Given the description of an element on the screen output the (x, y) to click on. 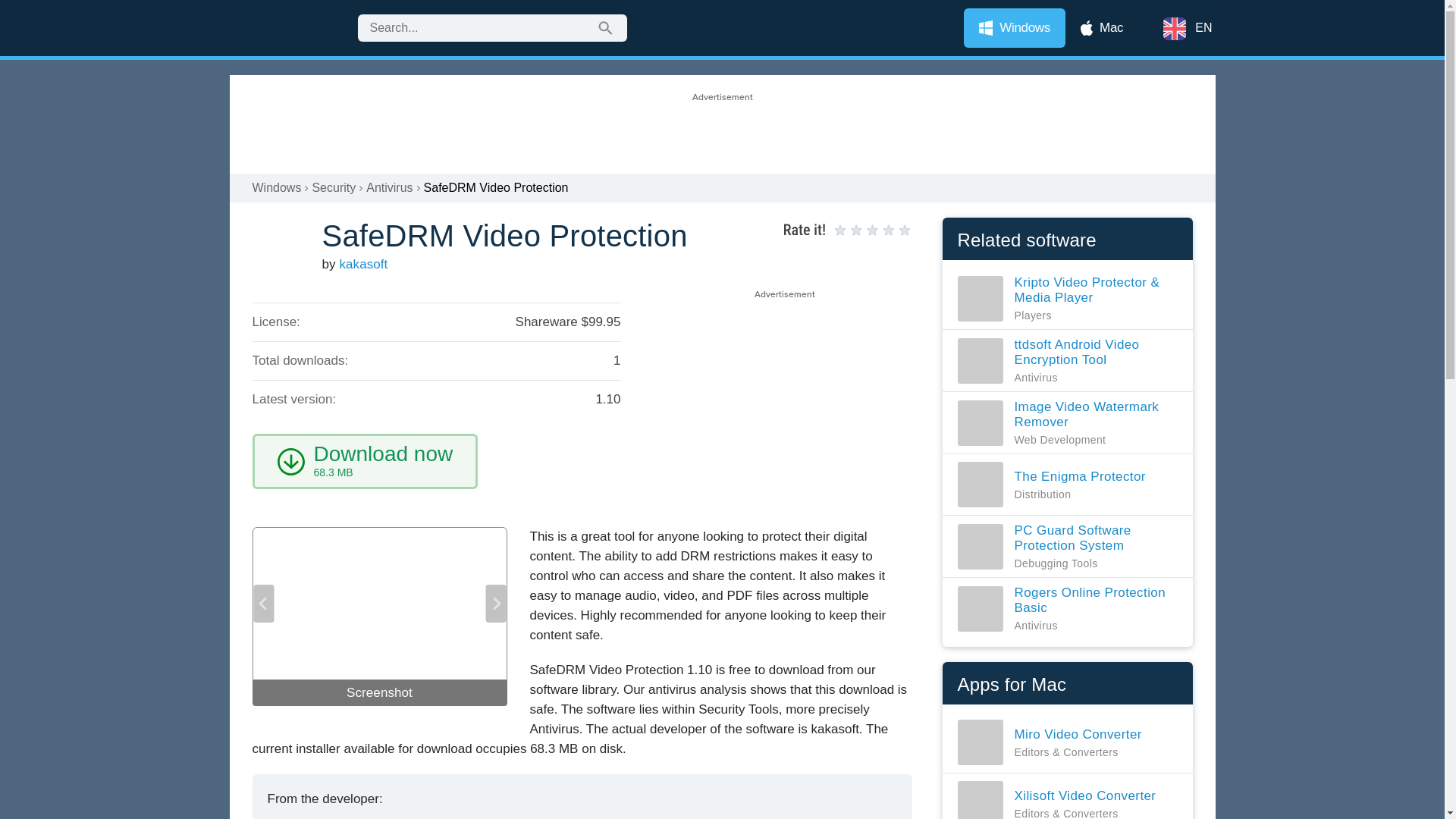
Antivirus (389, 187)
Windows (1014, 27)
Windows (1066, 360)
Download now (276, 187)
Xilisoft Video Converter (383, 454)
kakasoft (1056, 800)
ttdsoft Android Video Encryption Tool (363, 263)
Image Video Watermark Remover (1066, 360)
PC Guard Software Protection System (1066, 422)
4 (1066, 546)
2 (865, 229)
Miro Video Converter (848, 229)
Mac (1048, 741)
